Given the description of an element on the screen output the (x, y) to click on. 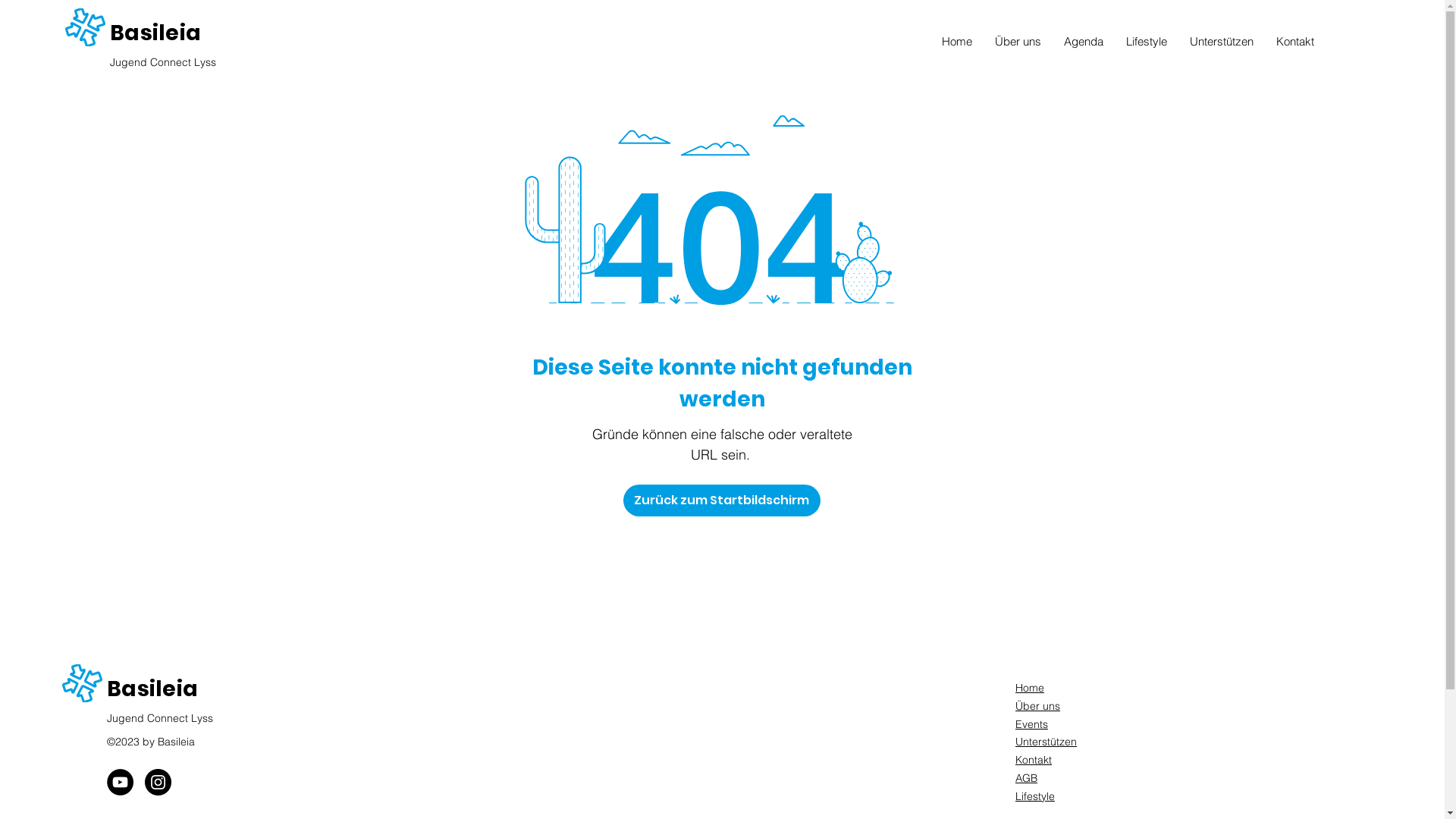
Jugend Connect Lyss Element type: text (162, 62)
Logo_Connect_Pfeile_transparent.png Element type: hover (82, 683)
AGB Element type: text (1026, 777)
Lifestyle Element type: text (1146, 41)
Home Element type: text (955, 41)
Kontakt Element type: text (1294, 41)
Basileia Element type: text (154, 32)
Home Element type: text (1029, 687)
Basileia Element type: text (151, 688)
Lifestyle Element type: text (1034, 796)
Events Element type: text (1031, 724)
Agenda Element type: text (1083, 41)
Kontakt Element type: text (1033, 759)
Logo_Connect_Pfeile_transparent.png Element type: hover (85, 27)
